Given the description of an element on the screen output the (x, y) to click on. 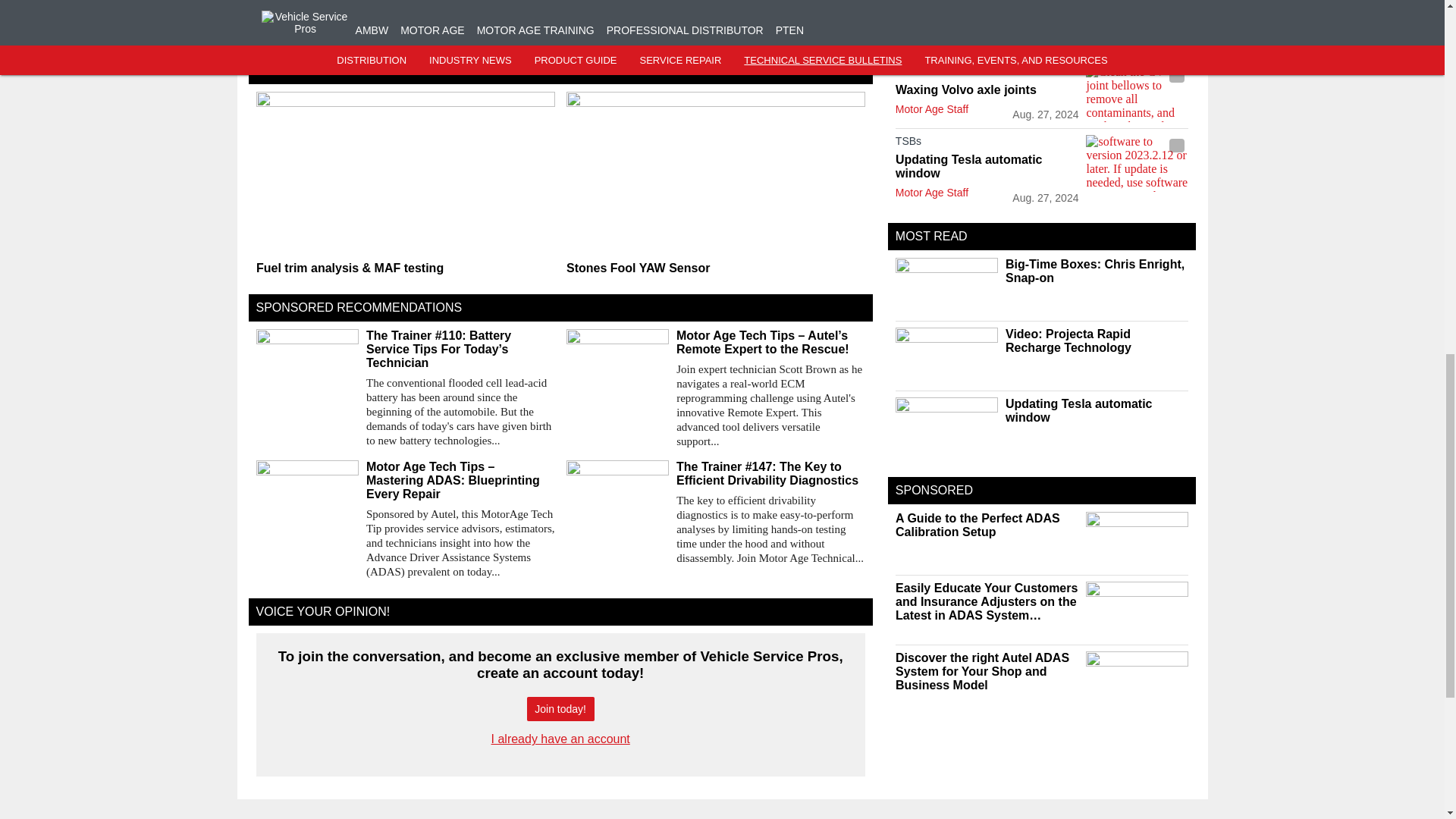
TSBs (986, 74)
Waxing Volvo axle joints (986, 90)
I already have an account (561, 738)
Join today! (560, 708)
LATEST IN TSBS (942, 42)
Motor Age Staff (931, 109)
Stones Fool YAW Sensor (715, 268)
